Given the description of an element on the screen output the (x, y) to click on. 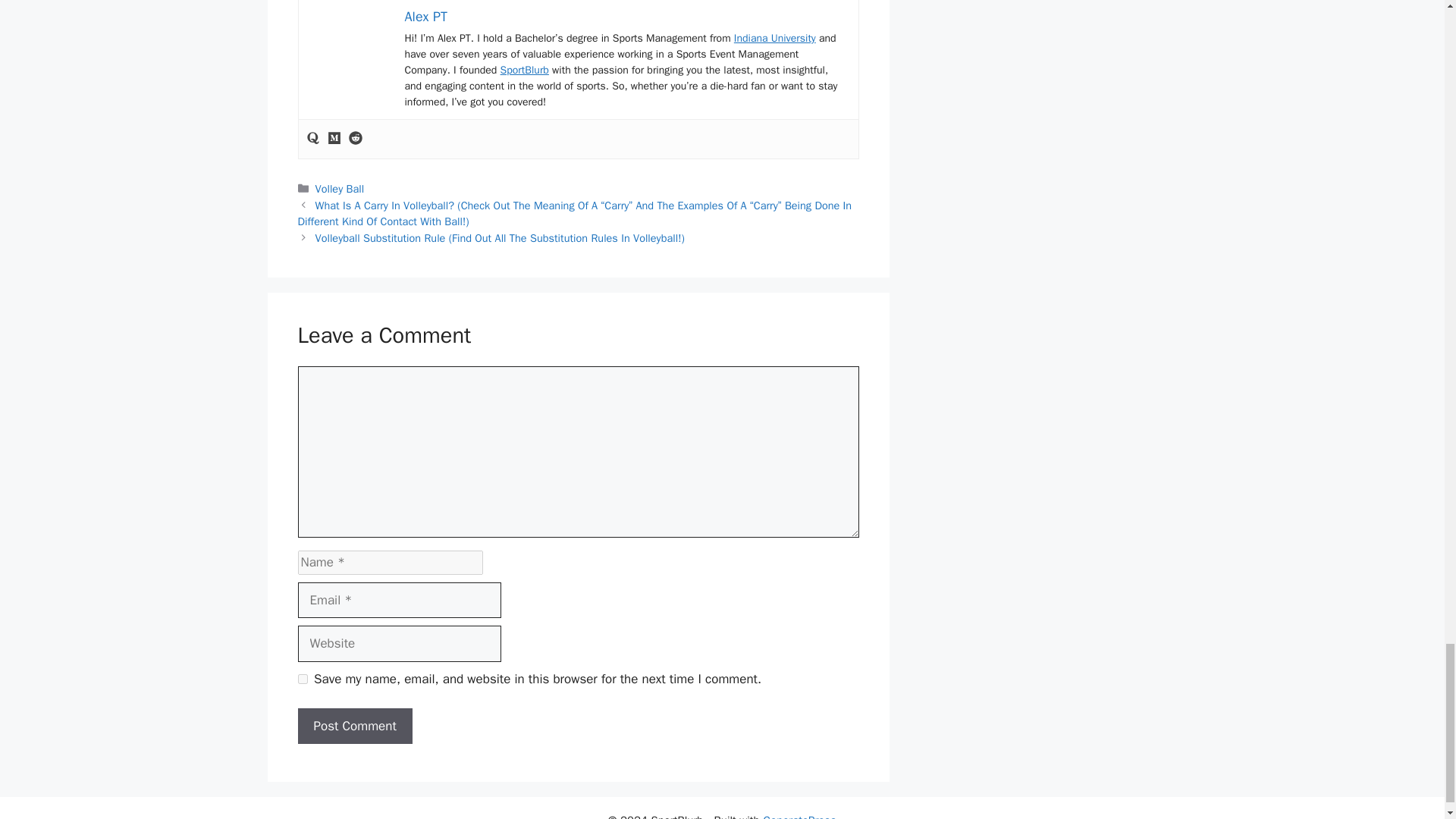
Indiana University (774, 38)
Post Comment (354, 726)
SportBlurb (524, 69)
Alex PT (425, 16)
Post Comment (354, 726)
GeneratePress (798, 816)
yes (302, 678)
Volley Ball (340, 188)
